Given the description of an element on the screen output the (x, y) to click on. 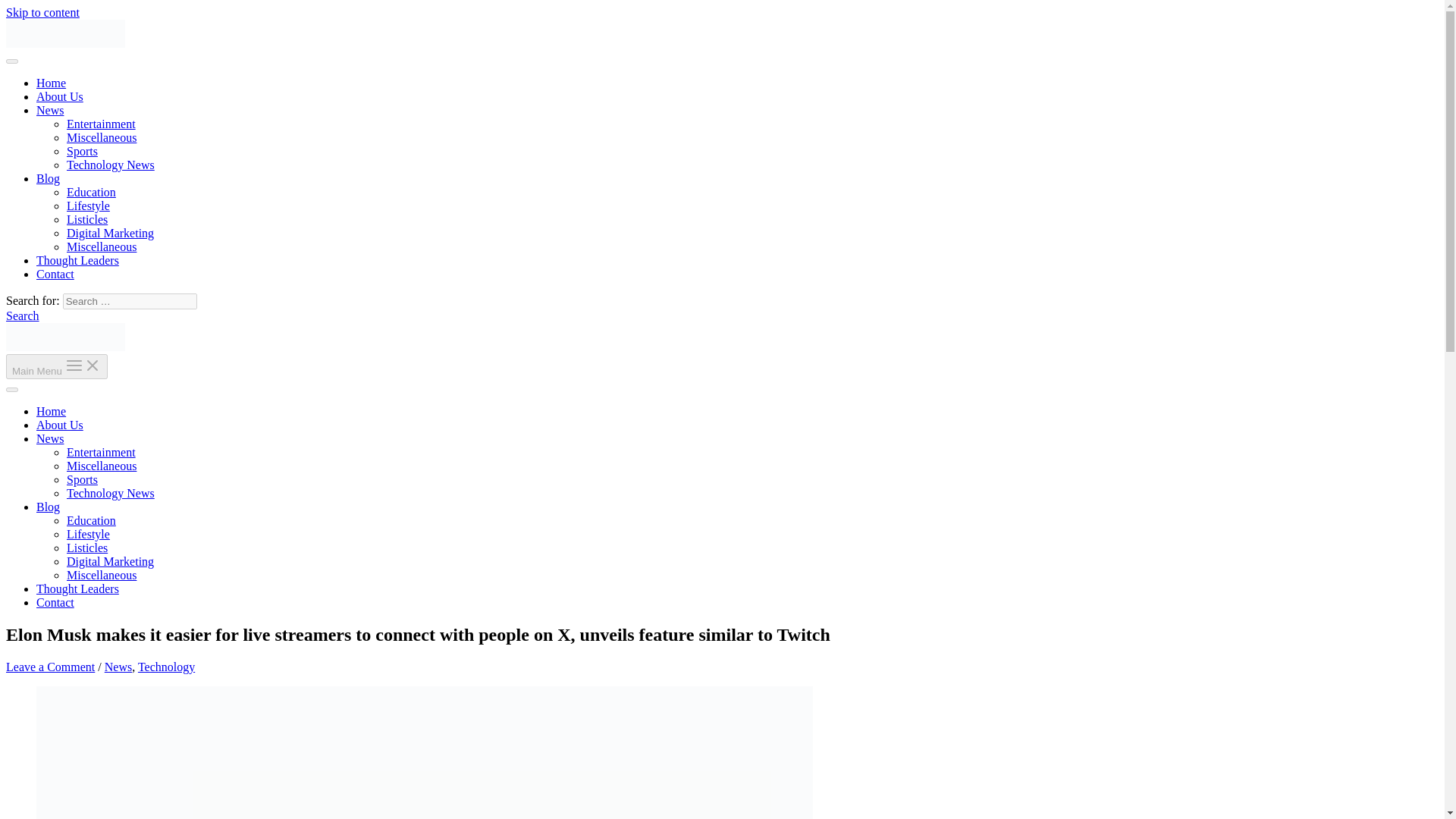
Education (91, 520)
Search (22, 315)
Sports (81, 479)
Miscellaneous (101, 137)
Contact (55, 273)
About Us (59, 424)
About Us (59, 96)
Leave a Comment (49, 666)
Home (50, 82)
Home (50, 410)
